Given the description of an element on the screen output the (x, y) to click on. 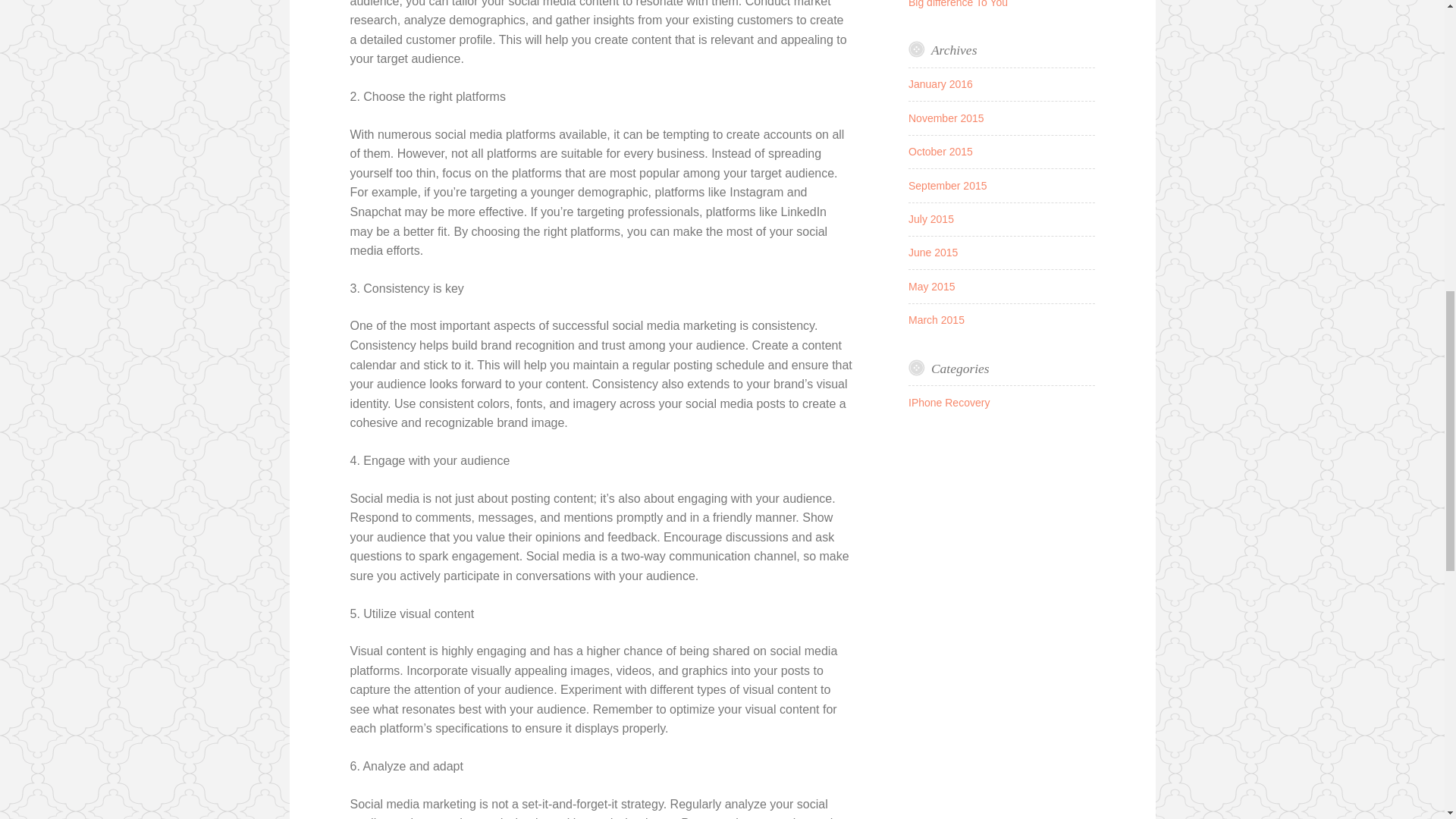
January 2016 (940, 83)
October 2015 (940, 151)
May 2015 (931, 286)
IPhone Recovery (949, 402)
June 2015 (933, 252)
March 2015 (935, 319)
July 2015 (930, 218)
September 2015 (947, 185)
November 2015 (946, 118)
The Iphone And How It Can Make A Big difference To You (992, 3)
